Given the description of an element on the screen output the (x, y) to click on. 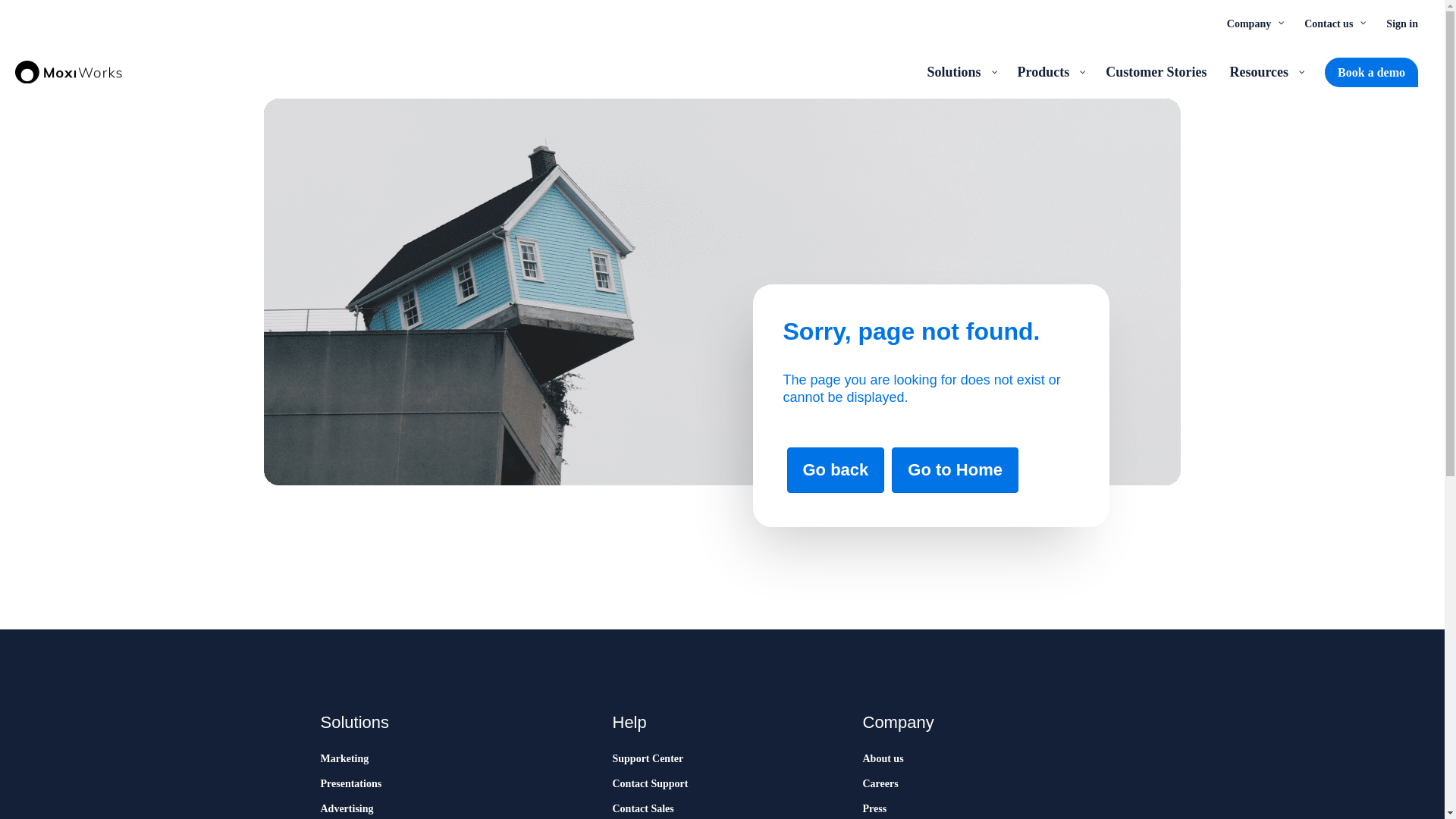
Solutions (960, 72)
Company (1253, 22)
Sign in (1401, 22)
Products (1050, 72)
Contact us (1333, 22)
